Given the description of an element on the screen output the (x, y) to click on. 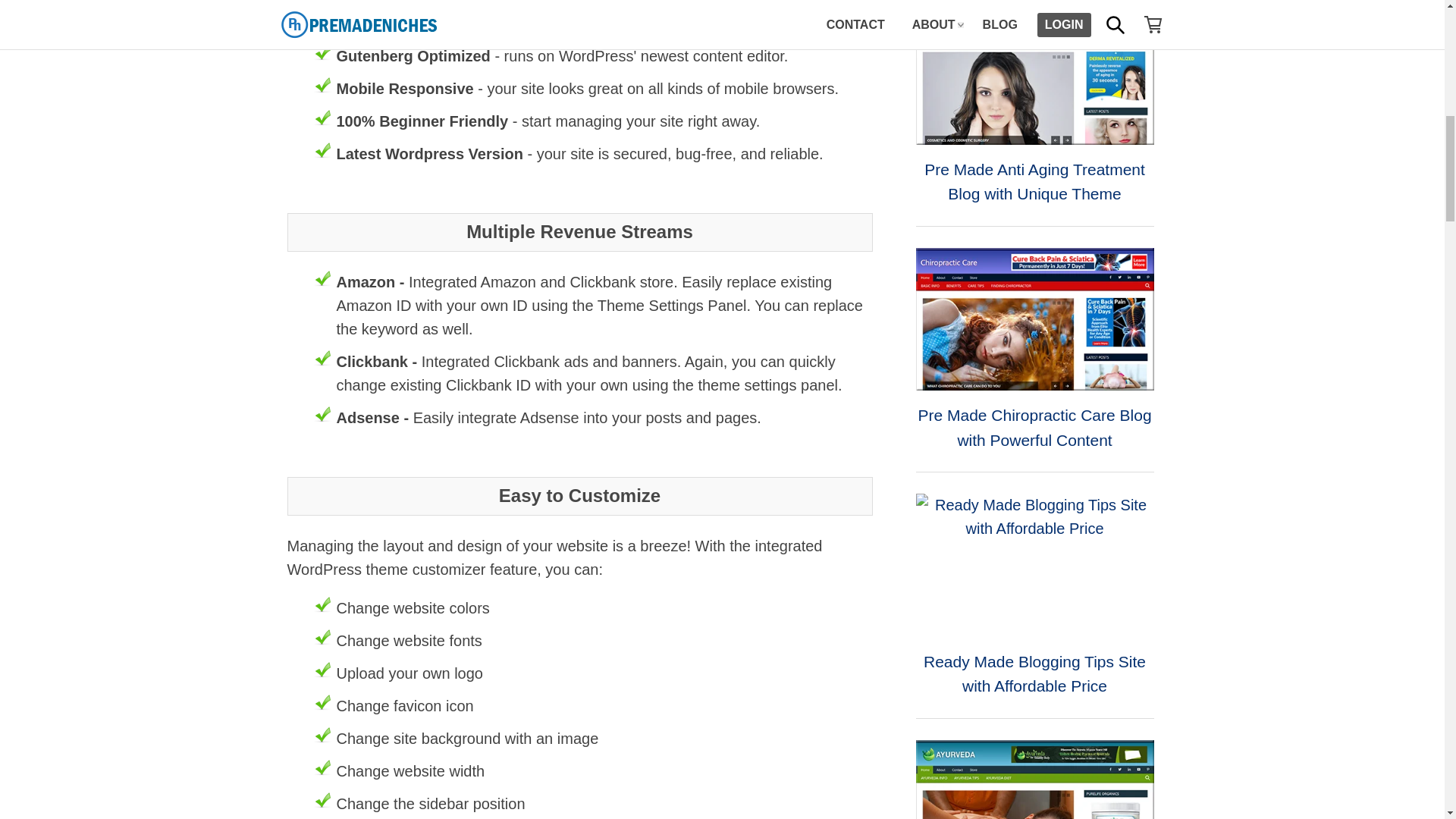
Pre Made Chiropractic Care Blog with Powerful Content (1034, 319)
Ready Made Blogging Tips Site with Affordable Price (1034, 564)
Ready Made Ayurveda Blog with Ready to Sell eBook (1034, 779)
Pre Made Anti Aging Treatment Blog with Unique Theme (1034, 72)
